Given the description of an element on the screen output the (x, y) to click on. 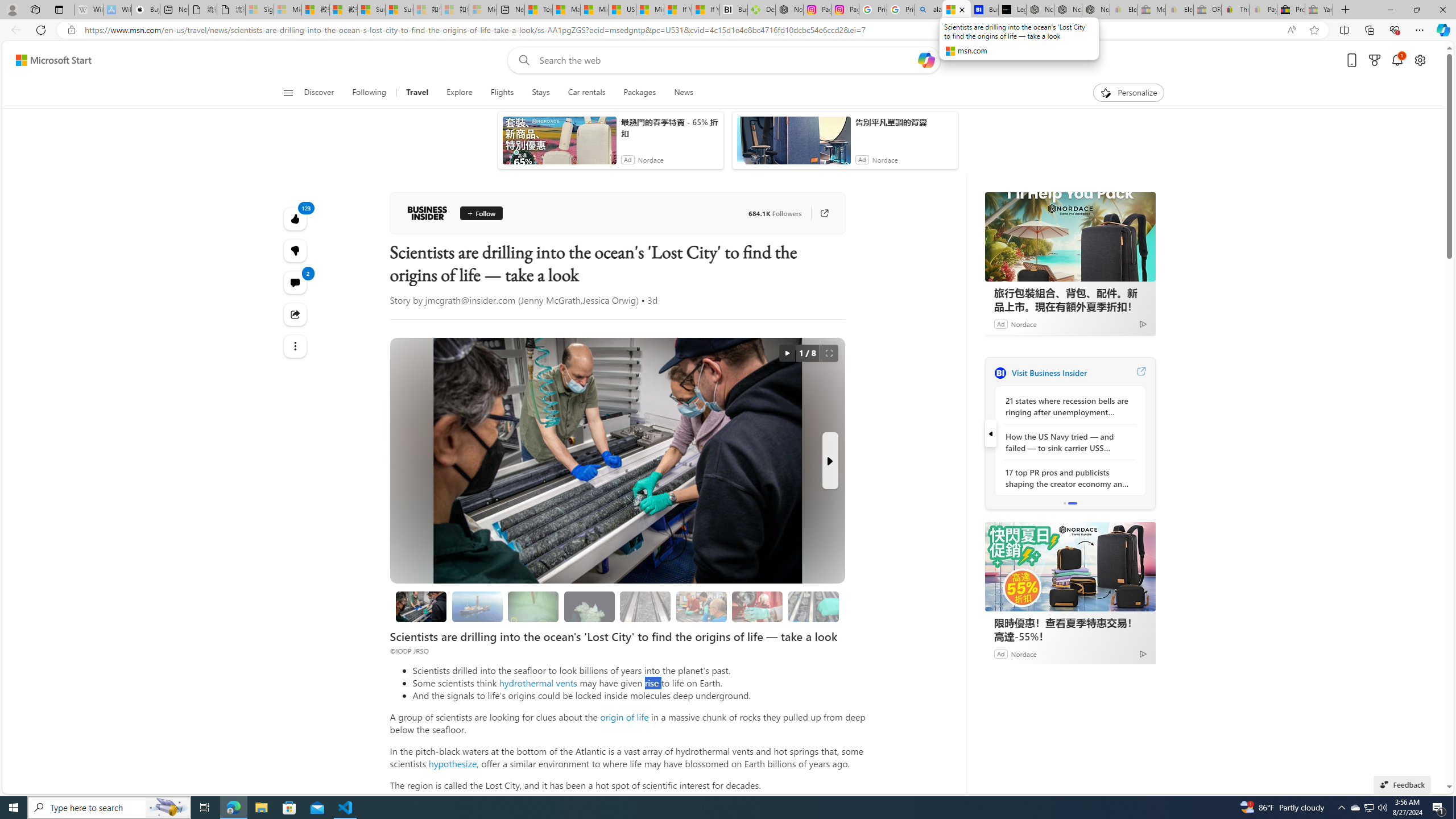
123 Like (295, 218)
origin of life (624, 716)
